Given the description of an element on the screen output the (x, y) to click on. 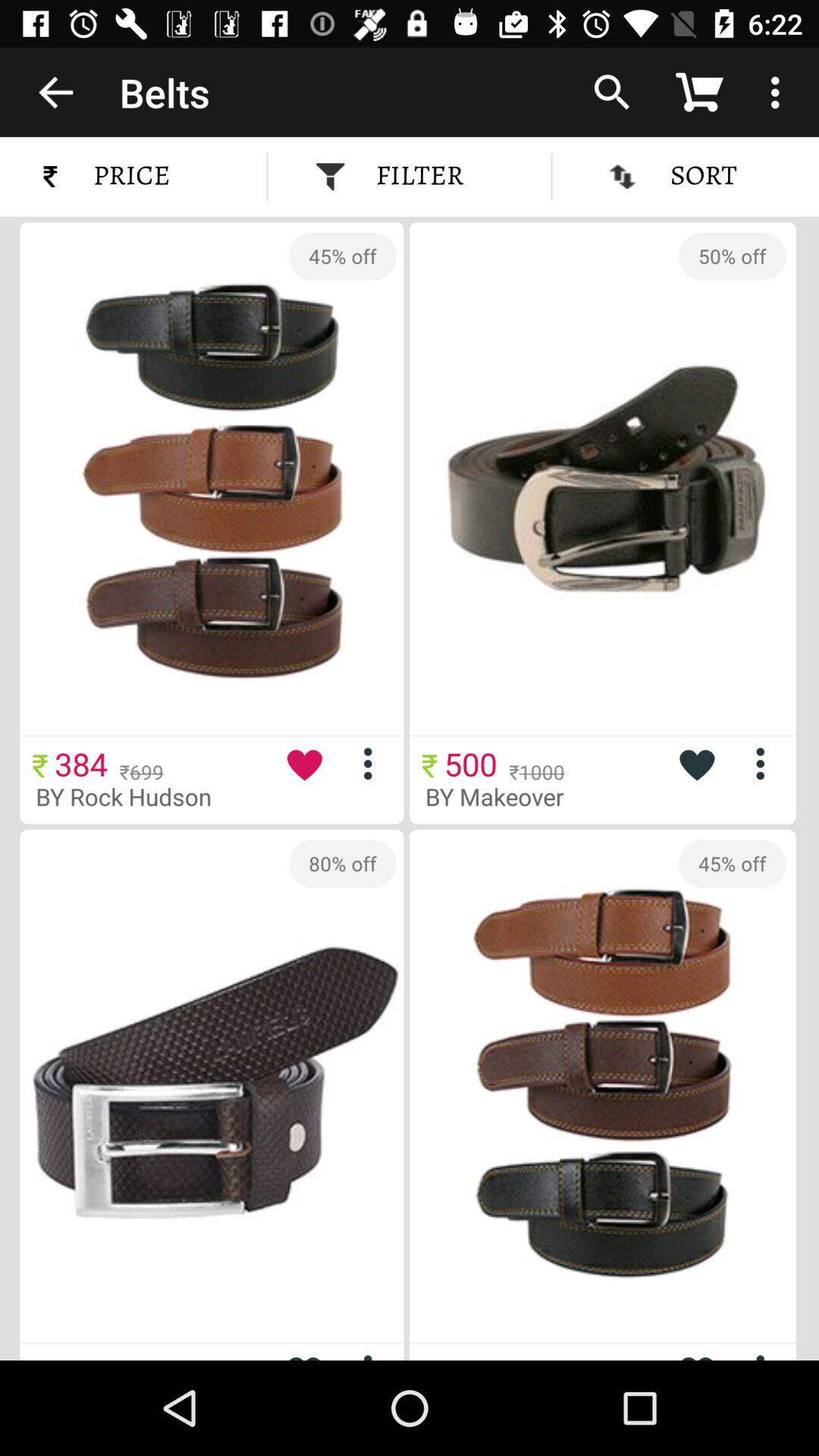
like object (696, 763)
